Given the description of an element on the screen output the (x, y) to click on. 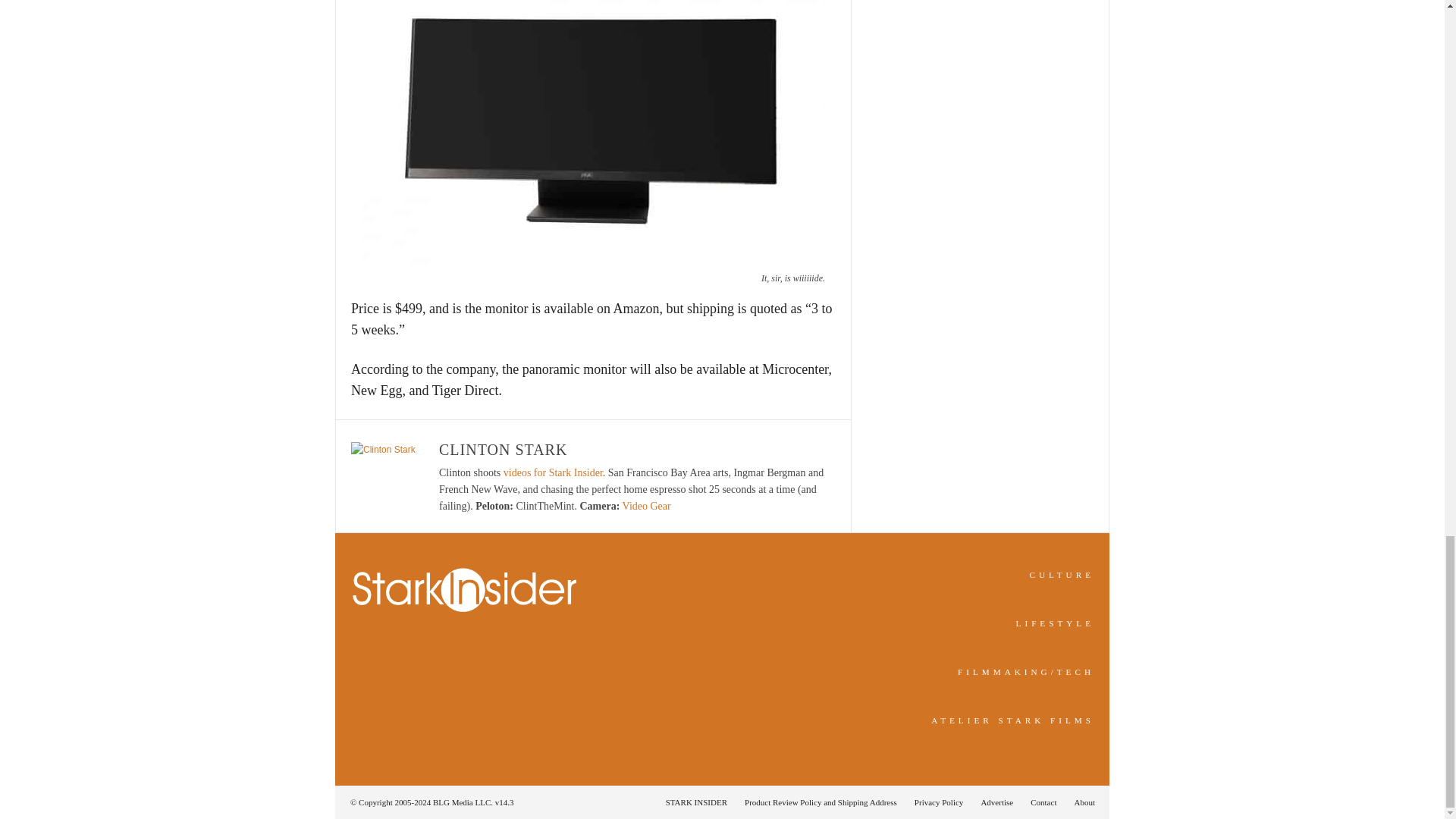
STARK INSIDER (696, 801)
Contact (1043, 801)
Video Gear (647, 505)
CULTURE (1061, 574)
videos for Stark Insider (552, 472)
LIFESTYLE (1055, 623)
About (1079, 801)
Advertise (996, 801)
CLINTON STARK (503, 449)
ATELIER STARK FILMS (1012, 719)
Privacy Policy (939, 801)
Product Review Policy and Shipping Address (820, 801)
